Given the description of an element on the screen output the (x, y) to click on. 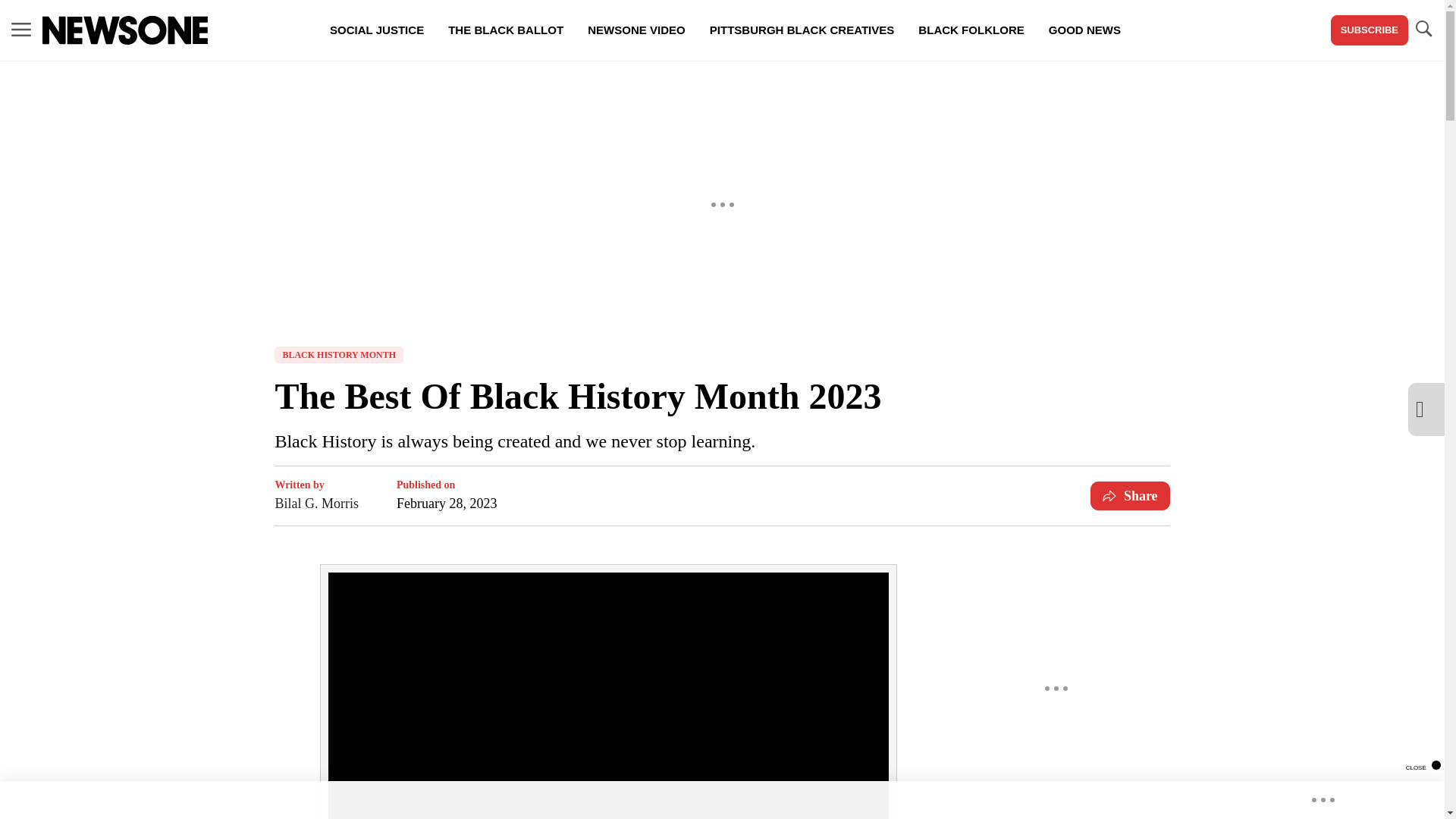
GOOD NEWS (1084, 30)
BLACK FOLKLORE (970, 30)
MENU (20, 29)
TOGGLE SEARCH (1422, 30)
SUBSCRIBE (1368, 30)
THE BLACK BALLOT (505, 30)
BLACK HISTORY MONTH (339, 354)
Bilal G. Morris (316, 503)
TOGGLE SEARCH (1422, 28)
MENU (20, 30)
